Given the description of an element on the screen output the (x, y) to click on. 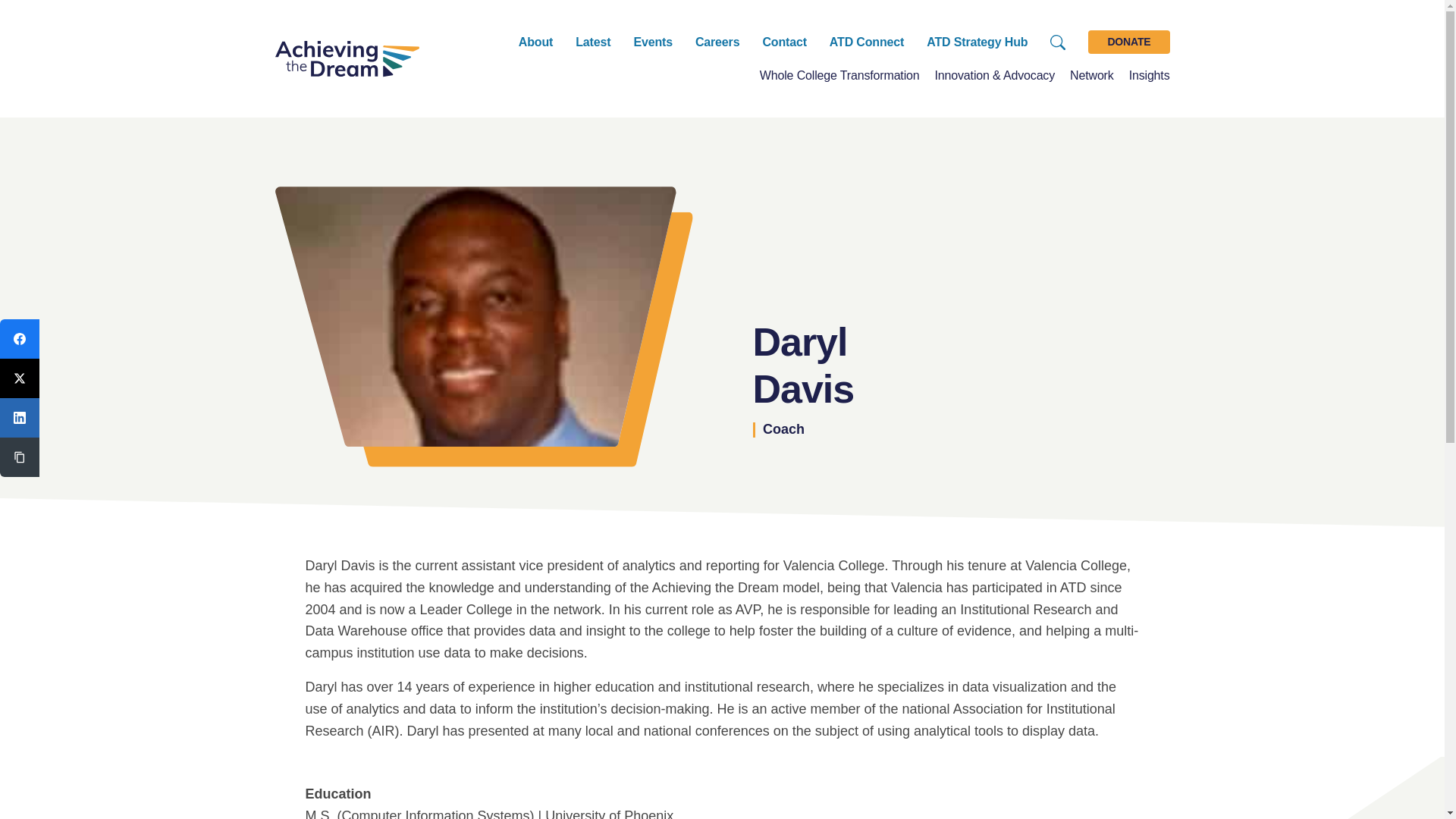
Careers (717, 41)
Network (1091, 75)
ATD Strategy Hub (976, 41)
Insights (1149, 75)
Search (1057, 42)
Whole College Transformation (840, 75)
About (535, 41)
DONATE (1128, 41)
Latest (592, 41)
Achieving the Dream (347, 58)
Events (652, 41)
Contact (783, 41)
ATD Connect (866, 41)
